Given the description of an element on the screen output the (x, y) to click on. 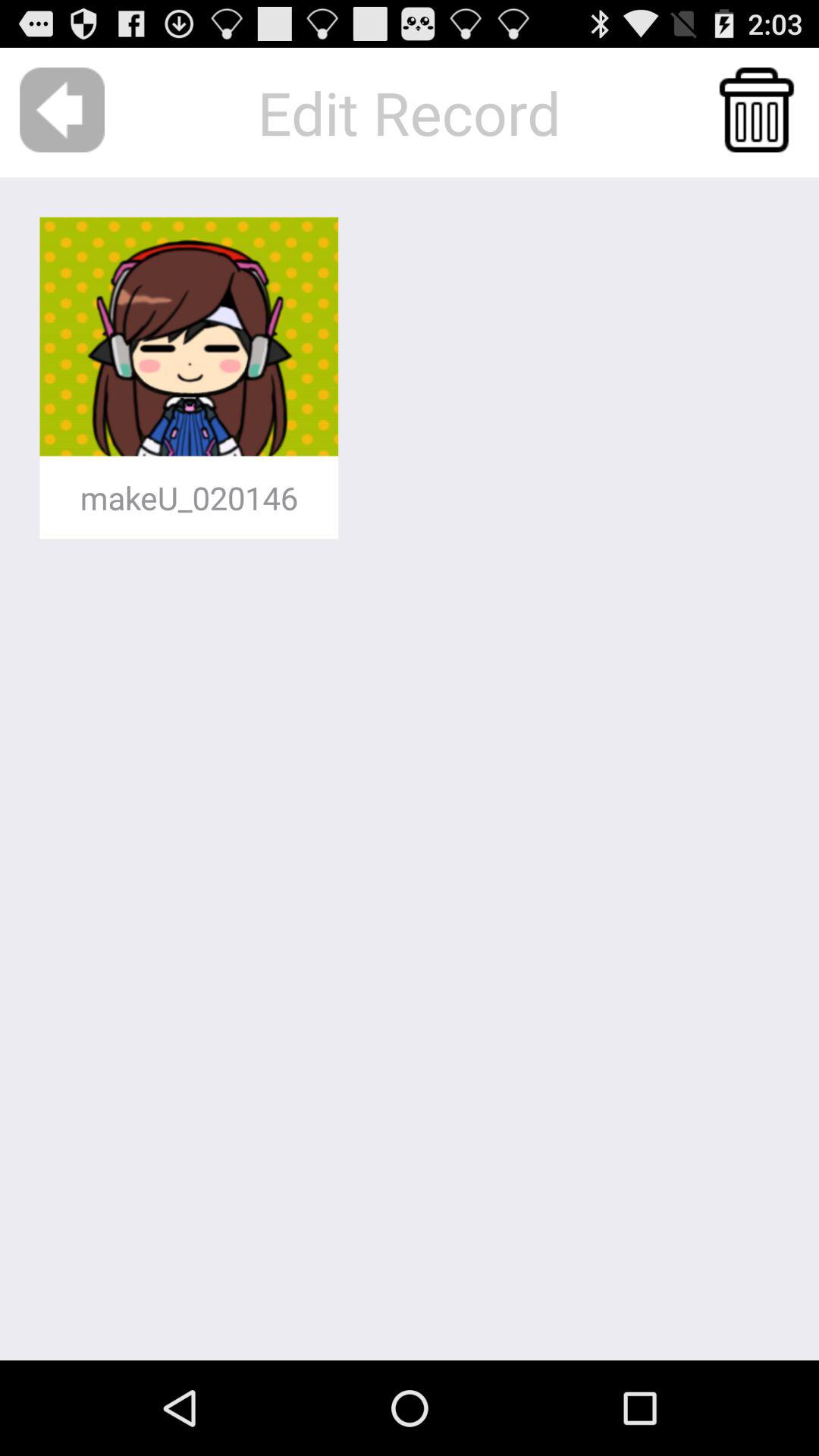
toss avatar (756, 109)
